Given the description of an element on the screen output the (x, y) to click on. 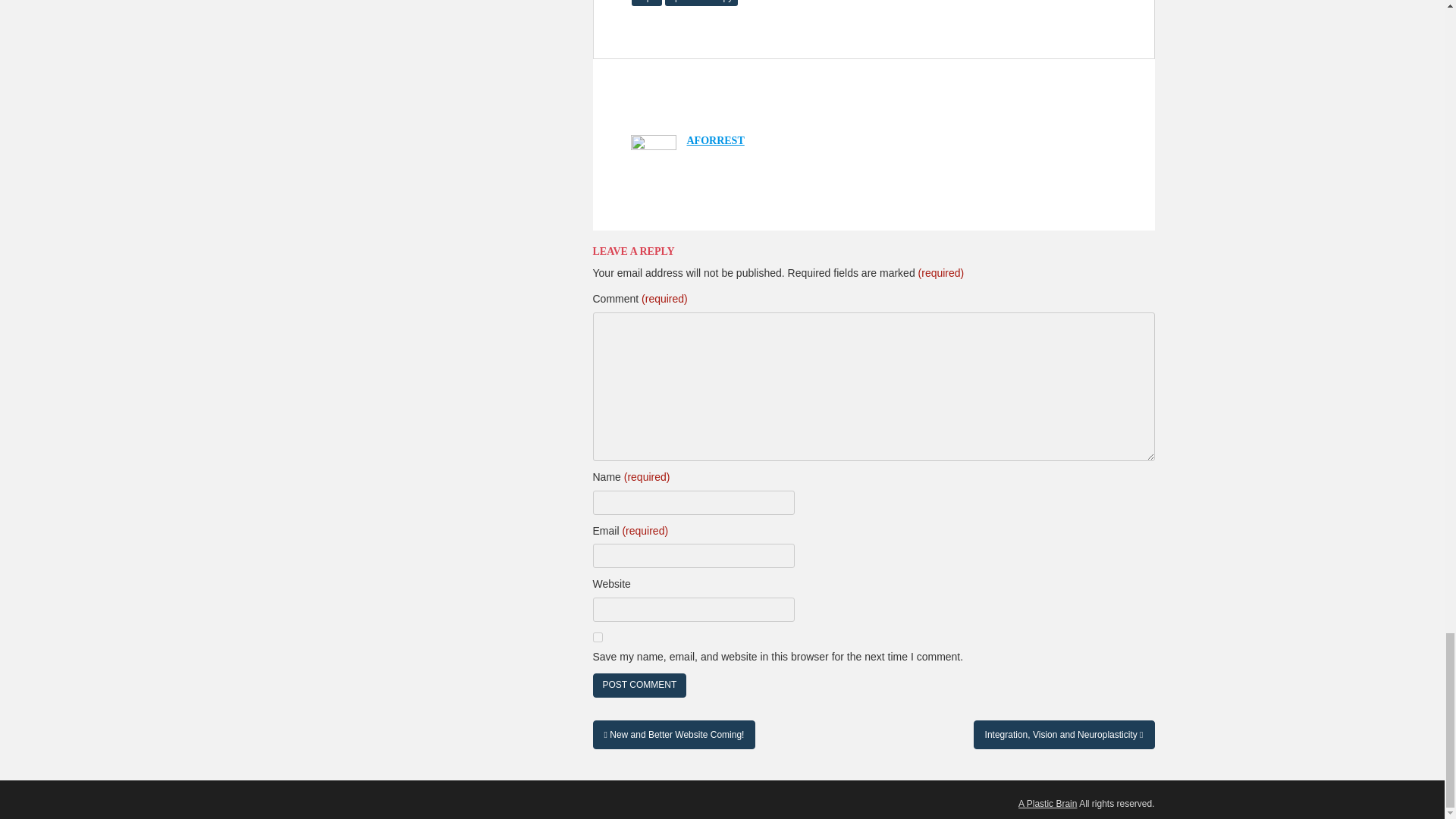
New and Better Website Coming! (673, 734)
hope (646, 2)
AFORREST (715, 140)
yes (597, 637)
Post Comment (639, 684)
A Plastic Brain (1047, 803)
speech therapy (701, 2)
Post Comment (639, 684)
Integration, Vision and Neuroplasticity (1064, 734)
A Plastic Brain (1047, 803)
